Given the description of an element on the screen output the (x, y) to click on. 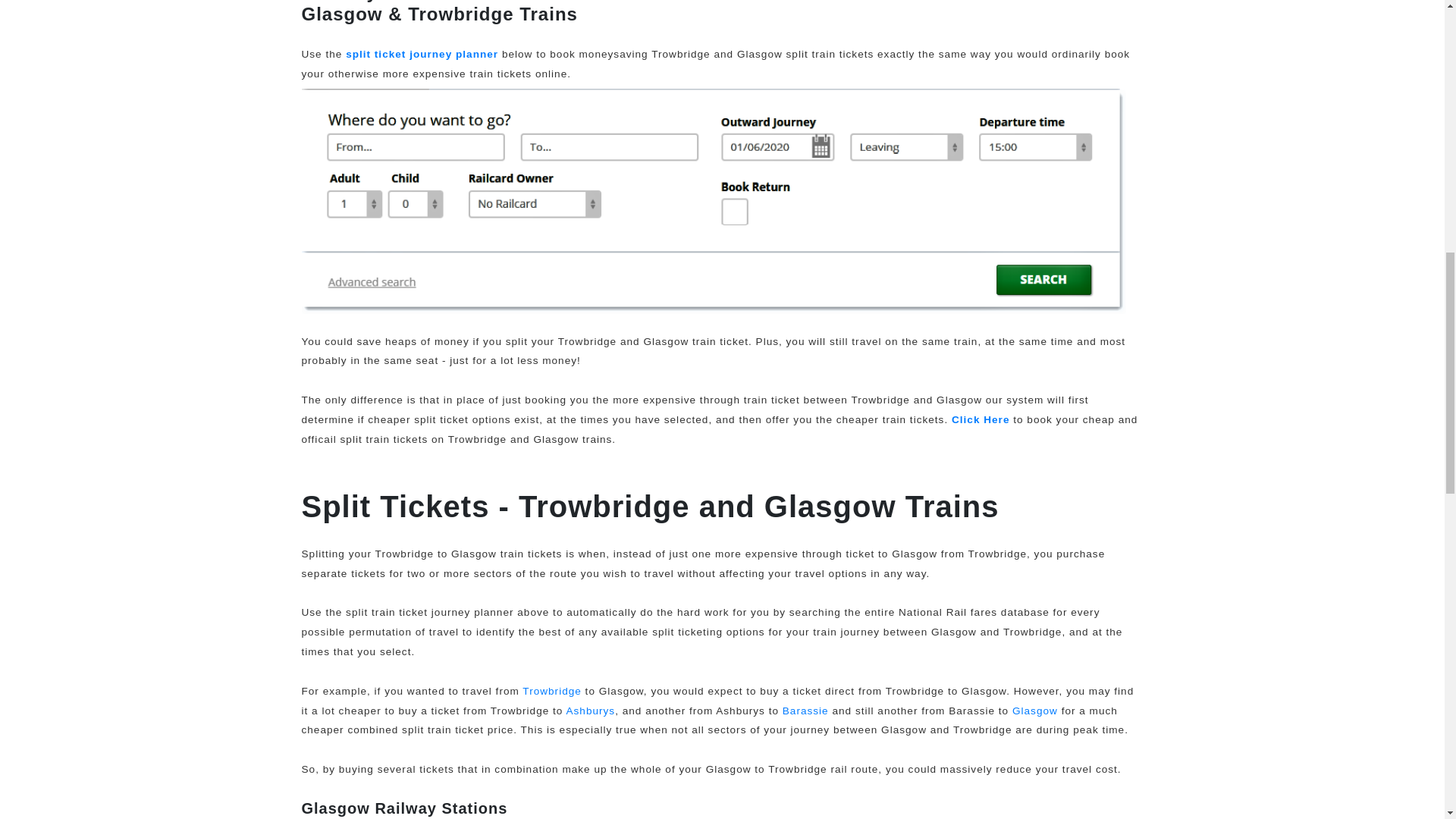
Ashburys (590, 710)
Click Here (981, 419)
Trowbridge (551, 690)
split ticket journey planner (421, 53)
Barassie (805, 710)
Glasgow (1034, 710)
